Given the description of an element on the screen output the (x, y) to click on. 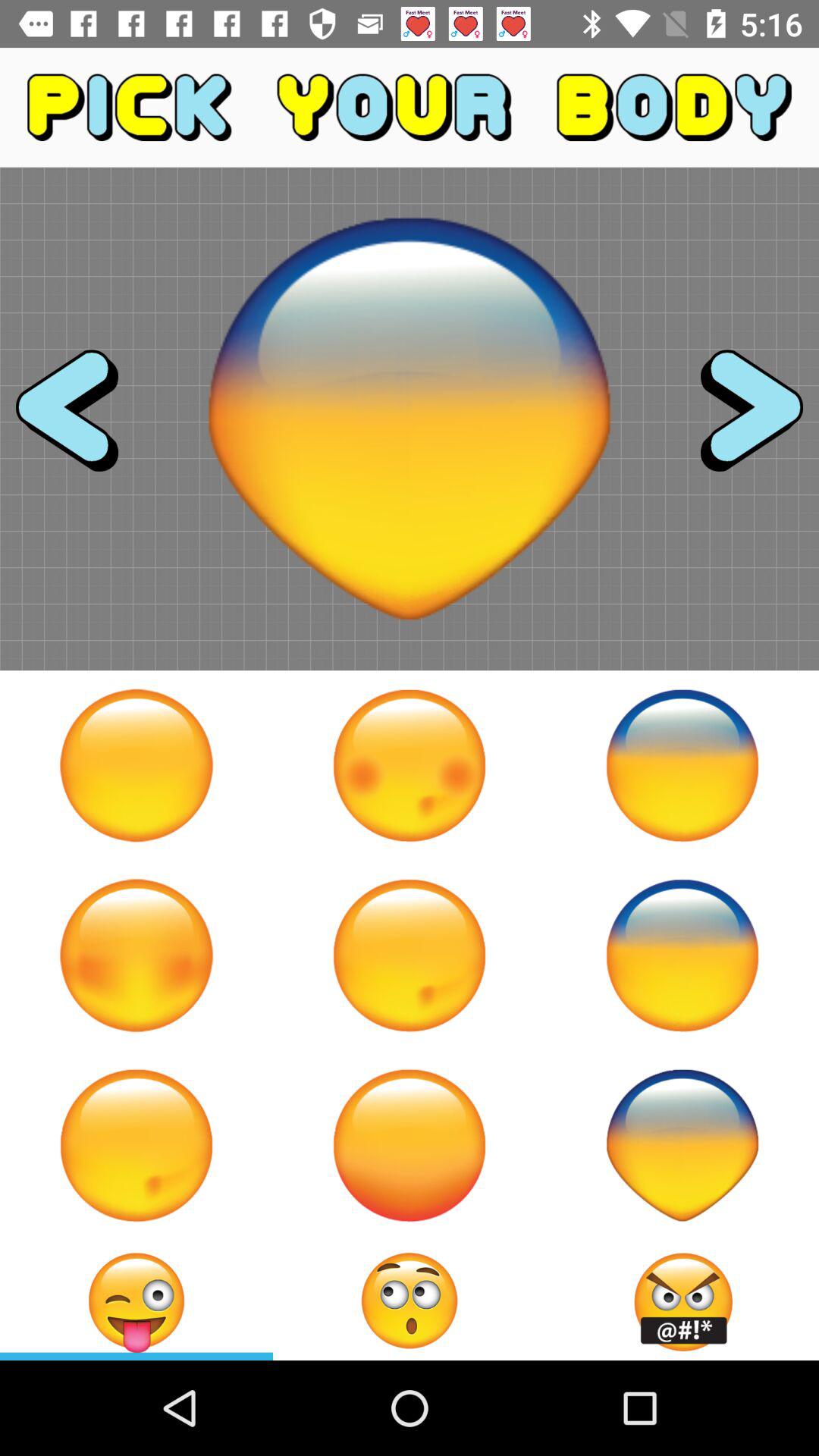
swipe left (81, 418)
